Given the description of an element on the screen output the (x, y) to click on. 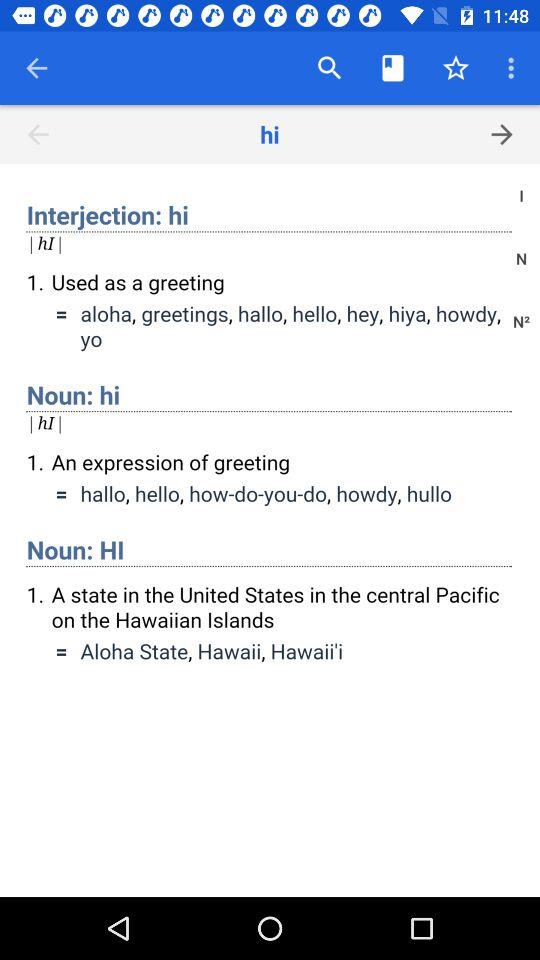
definitions of hi (270, 530)
